Given the description of an element on the screen output the (x, y) to click on. 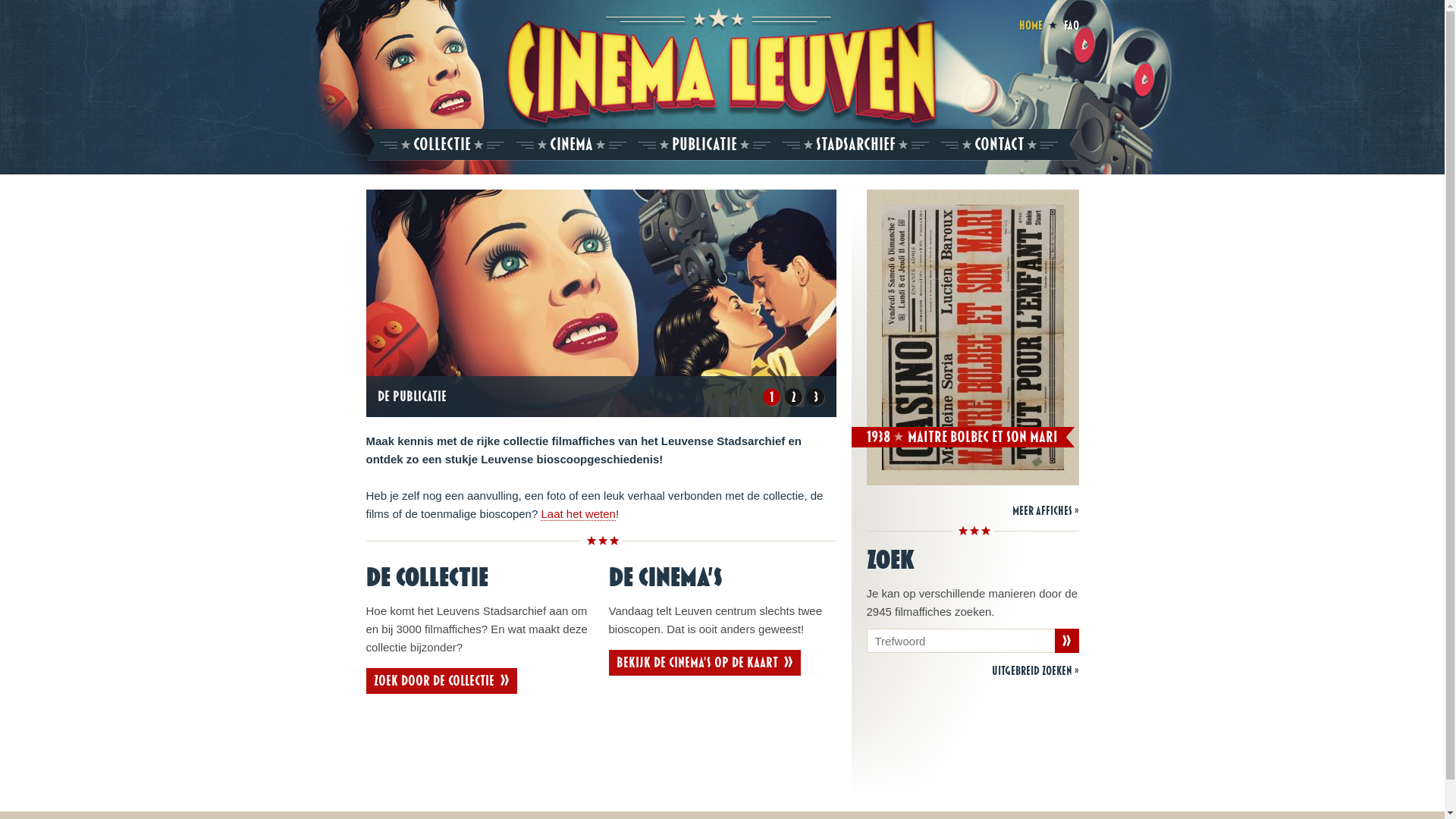
Cinema Element type: text (570, 144)
FAQ Element type: text (1070, 24)
Contact Element type: text (998, 144)
Zoek door de collectie Element type: text (440, 680)
Collectie Element type: text (441, 144)
Stadsarchief Element type: text (855, 144)
Verzenden Element type: text (1066, 640)
Home Element type: text (1030, 24)
Laat het weten Element type: text (577, 513)
Publicatie Element type: text (704, 144)
1938 Maitre Bolbec et son mari Element type: text (957, 436)
Bekijk de cinema's op de kaart Element type: text (704, 662)
De publicatie Element type: text (411, 396)
Overslaan en naar de algemene inhoud gaan Element type: text (114, 9)
Cinema Leuven Element type: text (722, 73)
